Given the description of an element on the screen output the (x, y) to click on. 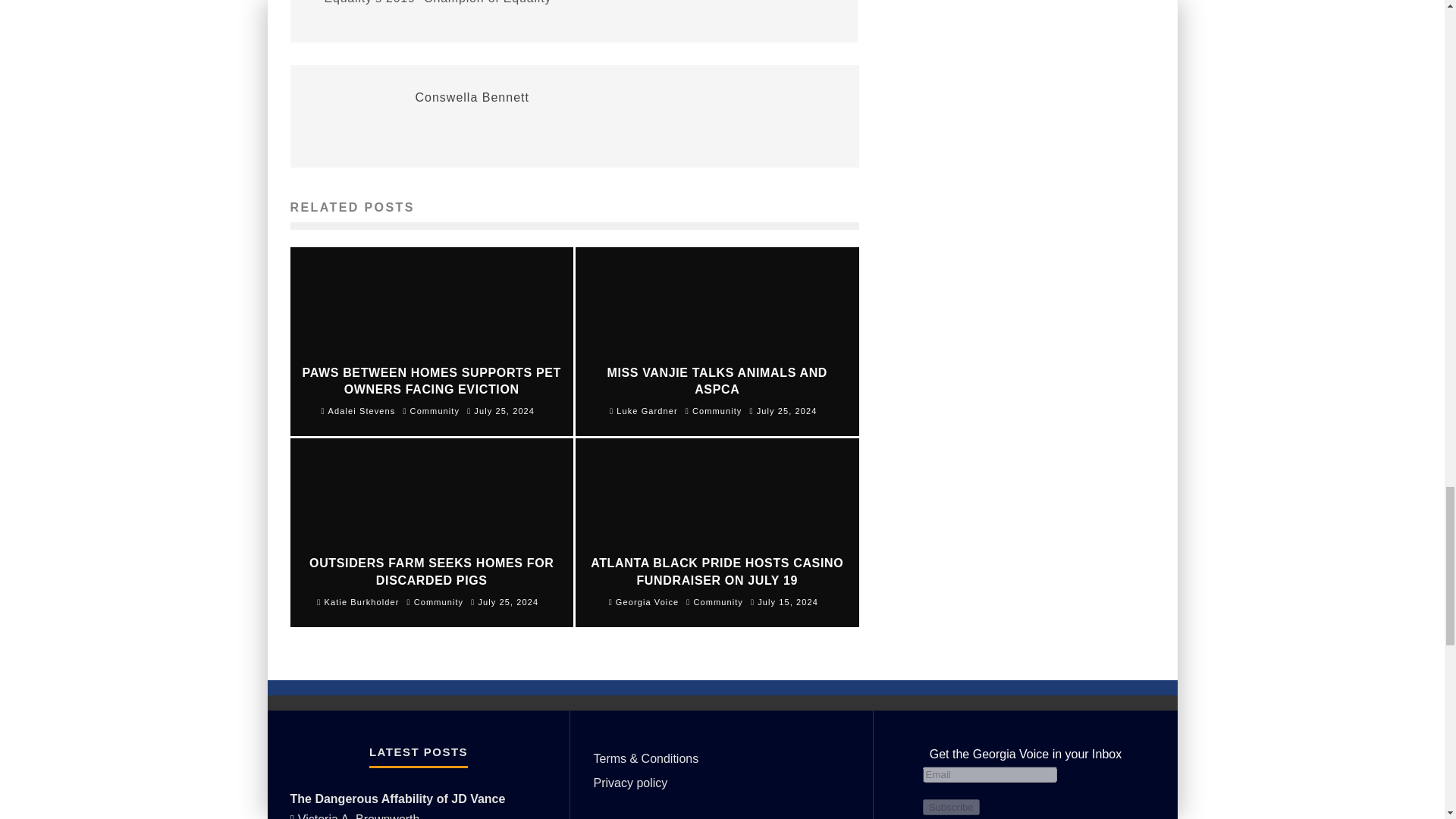
Subscribe (949, 806)
